Given the description of an element on the screen output the (x, y) to click on. 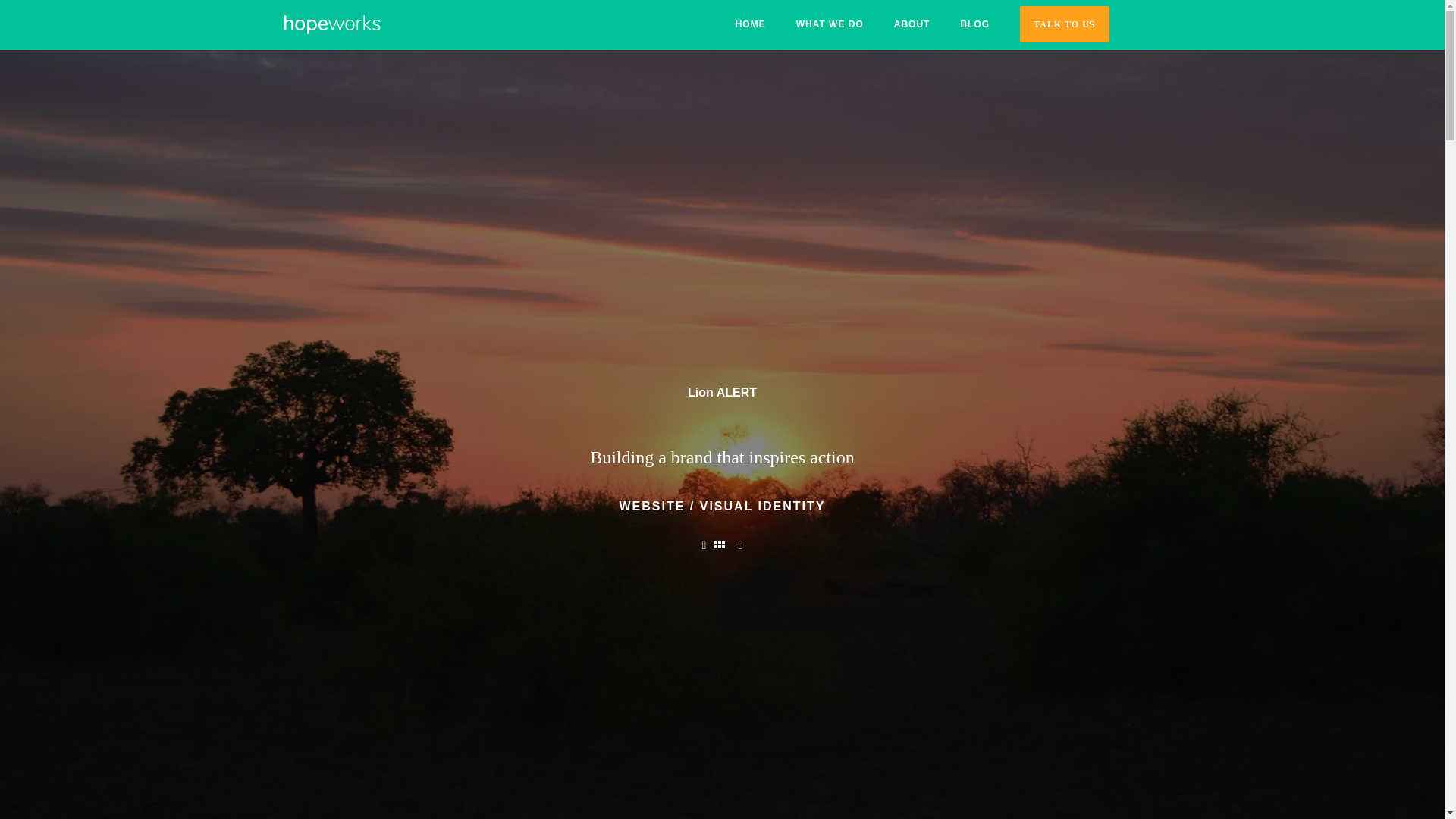
HOME (750, 23)
Regeneris (703, 544)
BLOG (974, 23)
Blog (974, 23)
TALK TO US (1071, 27)
WHAT WE DO (829, 23)
Home (750, 23)
ABOUT (911, 23)
What we do (829, 23)
TALK TO US (1064, 23)
About (911, 23)
